Given the description of an element on the screen output the (x, y) to click on. 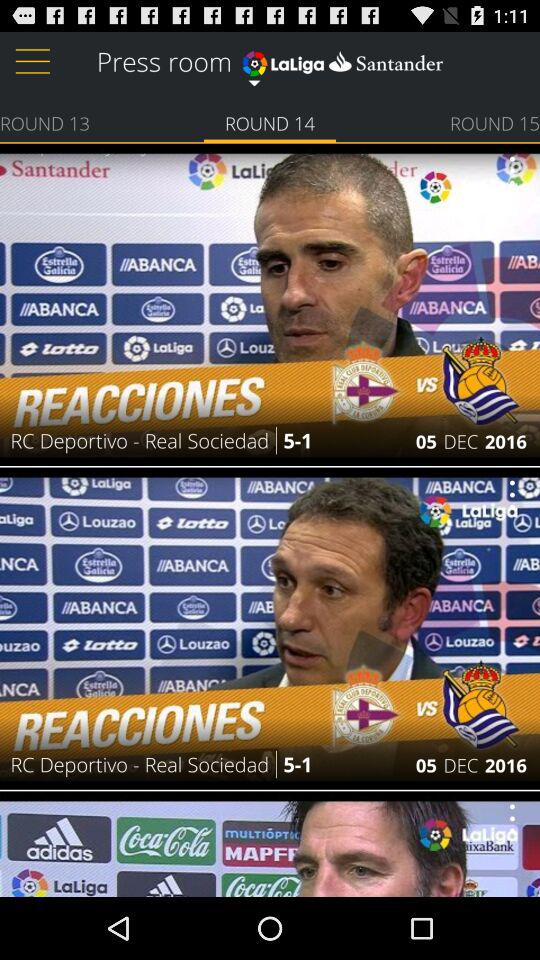
tap round 13 icon (45, 122)
